Given the description of an element on the screen output the (x, y) to click on. 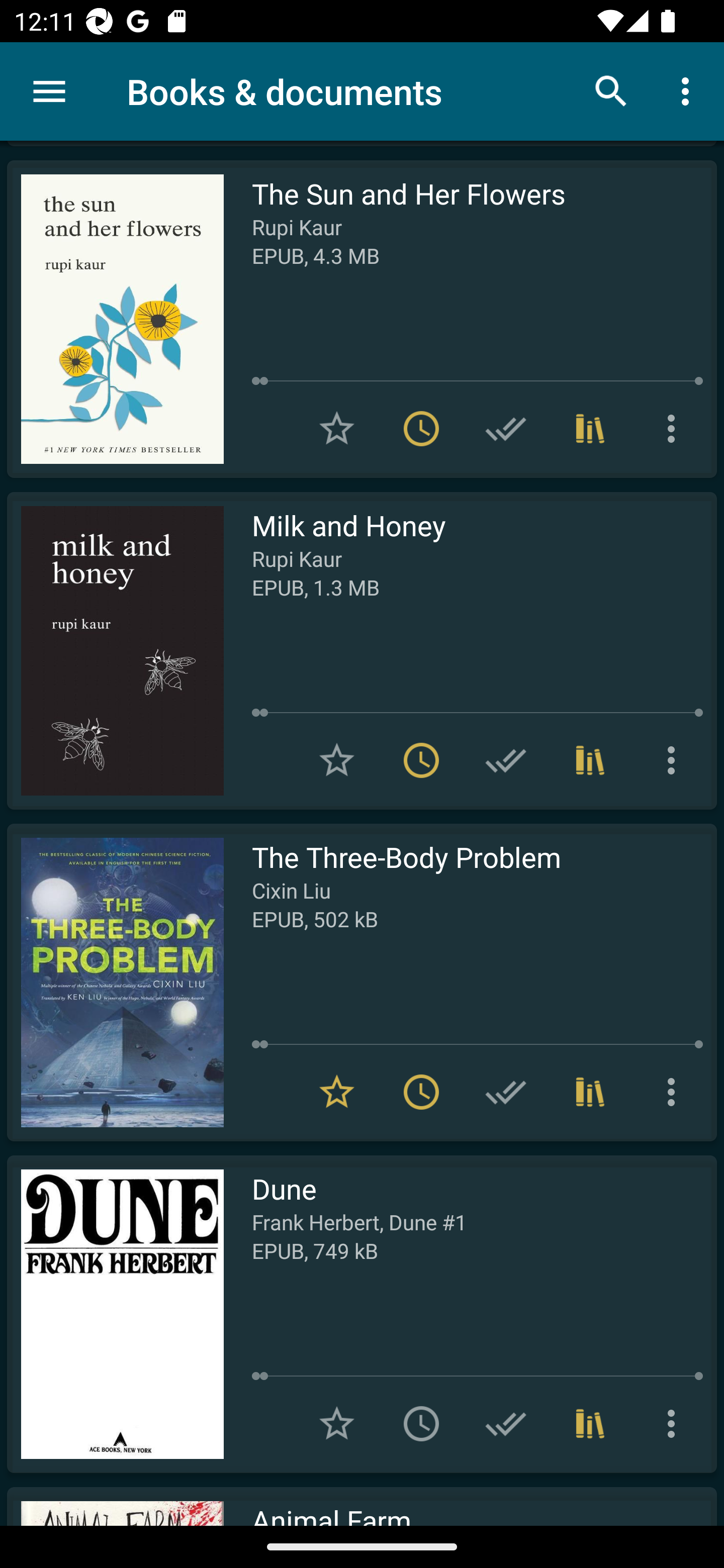
Menu (49, 91)
Search books & documents (611, 90)
More options (688, 90)
Read The Sun and Her Flowers (115, 318)
Add to Favorites (336, 427)
Remove from To read (421, 427)
Add to Have read (505, 427)
Collections (1) (590, 427)
More options (674, 427)
Read Milk and Honey (115, 650)
Add to Favorites (336, 760)
Remove from To read (421, 760)
Add to Have read (505, 760)
Collections (2) (590, 760)
More options (674, 760)
Read The Three-Body Problem (115, 982)
Remove from Favorites (336, 1091)
Remove from To read (421, 1091)
Add to Have read (505, 1091)
Collections (1) (590, 1091)
More options (674, 1091)
Read Dune (115, 1313)
Add to Favorites (336, 1423)
Add to To read (421, 1423)
Add to Have read (505, 1423)
Collections (1) (590, 1423)
More options (674, 1423)
